Given the description of an element on the screen output the (x, y) to click on. 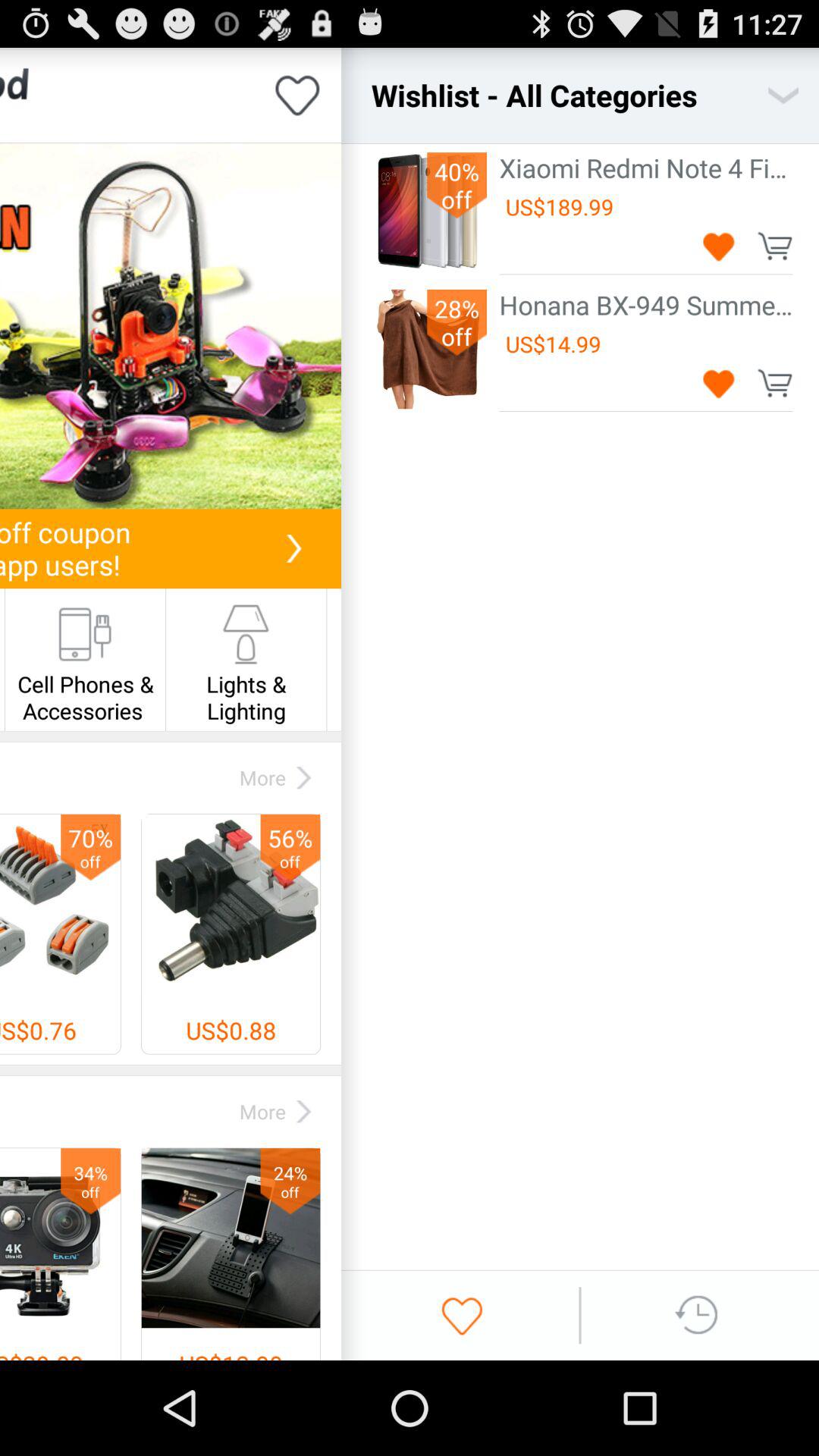
show all catgories (783, 95)
